Given the description of an element on the screen output the (x, y) to click on. 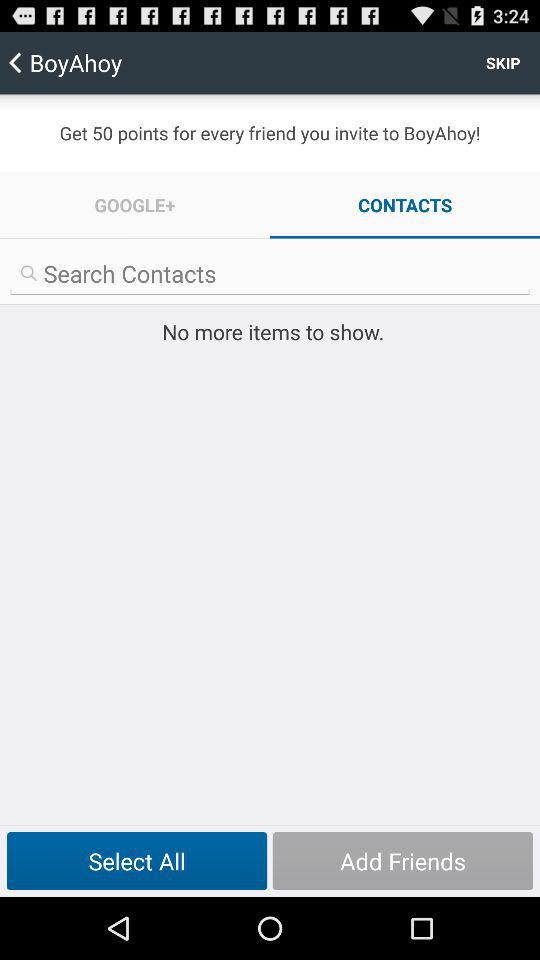
select the icon next to contacts (135, 204)
